Given the description of an element on the screen output the (x, y) to click on. 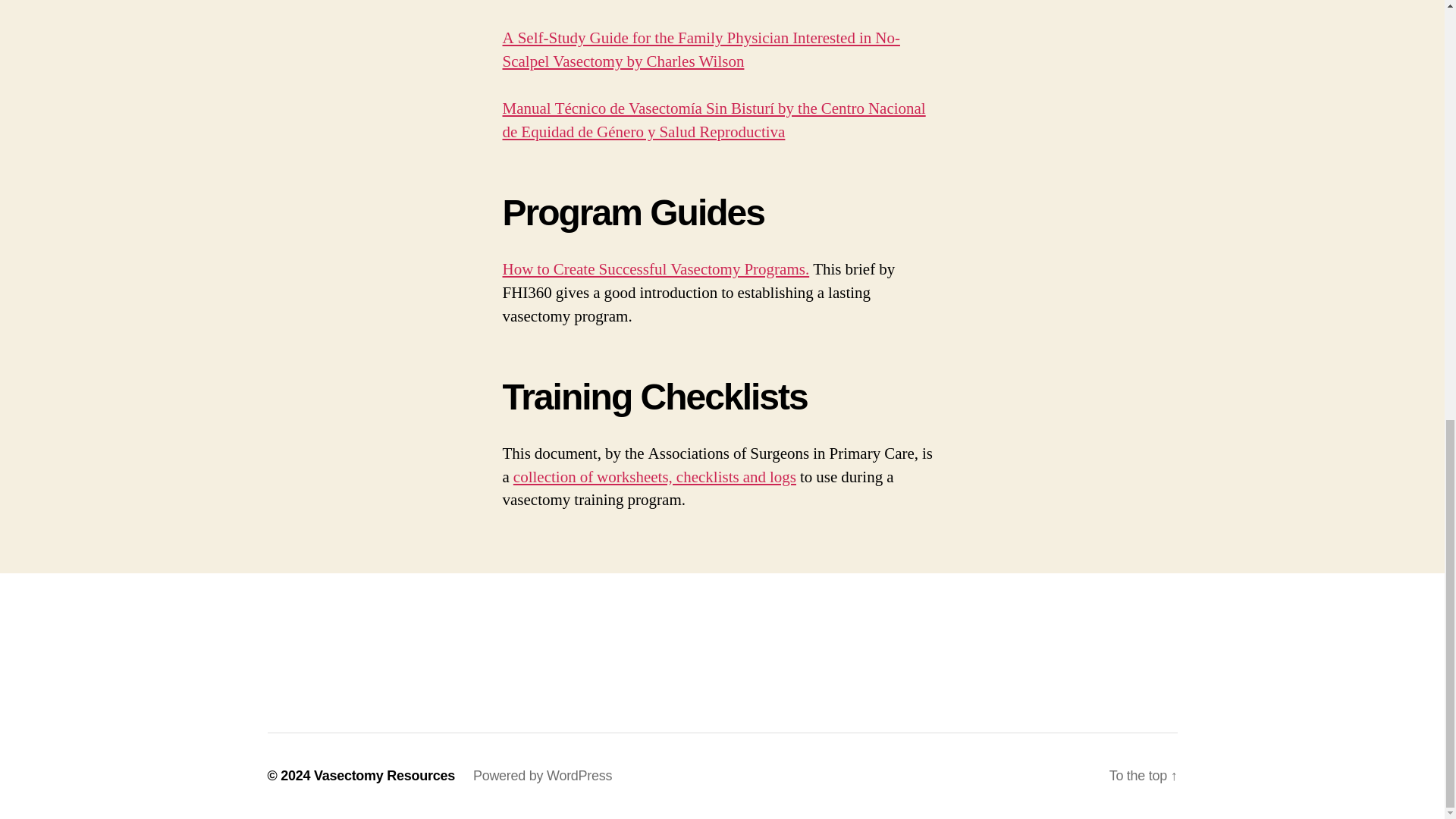
How to Create Successful Vasectomy Programs. (655, 269)
